Given the description of an element on the screen output the (x, y) to click on. 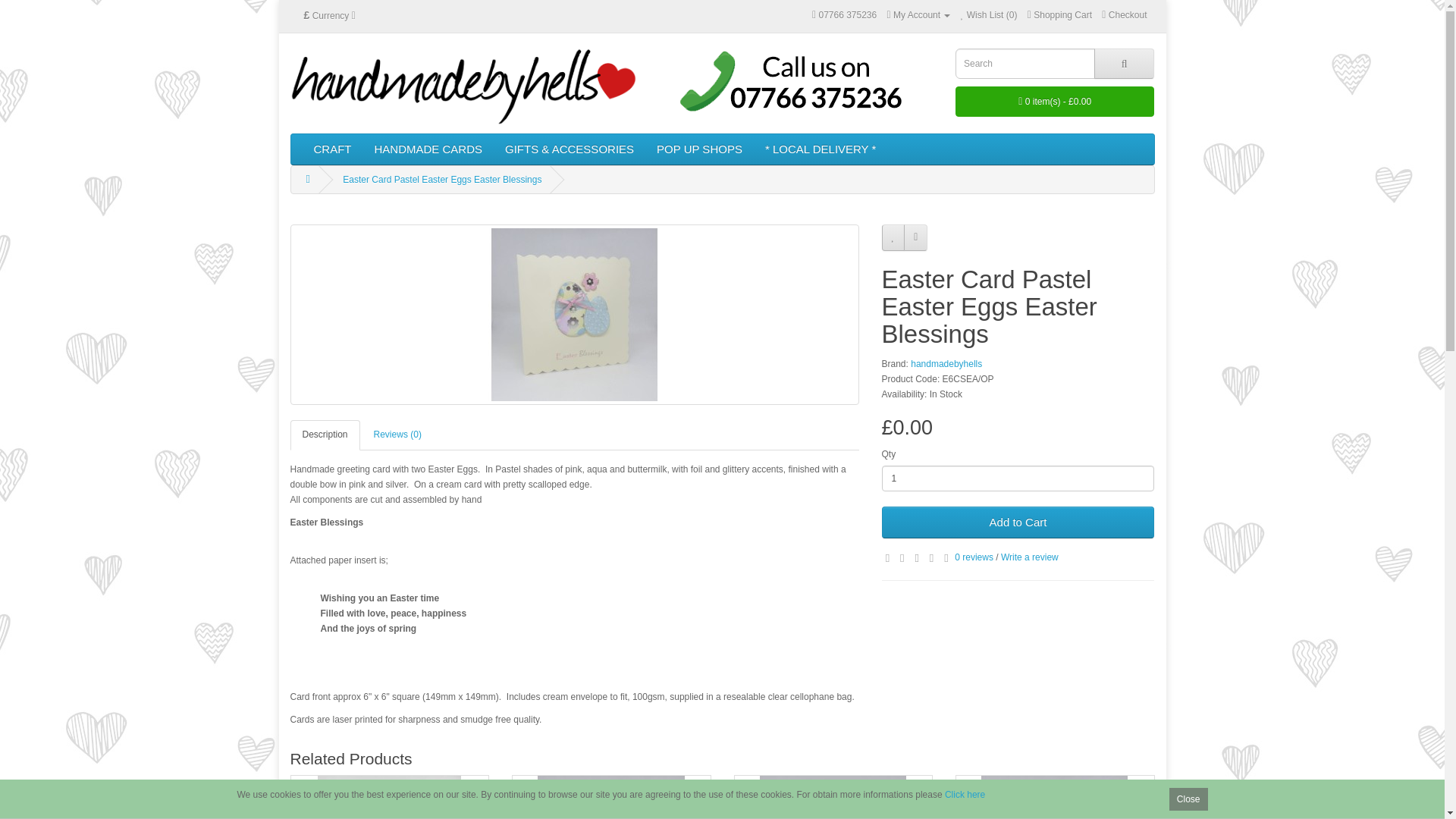
Checkout (1124, 14)
Easter Card Bunny with Kraft Egg Hoppy Easter Daughter (1054, 797)
My Account (918, 14)
Shopping Cart (1059, 14)
My Account (918, 14)
Checkout (1124, 14)
Shopping Cart (1059, 14)
1 (1017, 478)
Easter Card Kraft Spring Blossoms (389, 797)
HANDMADE CARDS (427, 149)
